Given the description of an element on the screen output the (x, y) to click on. 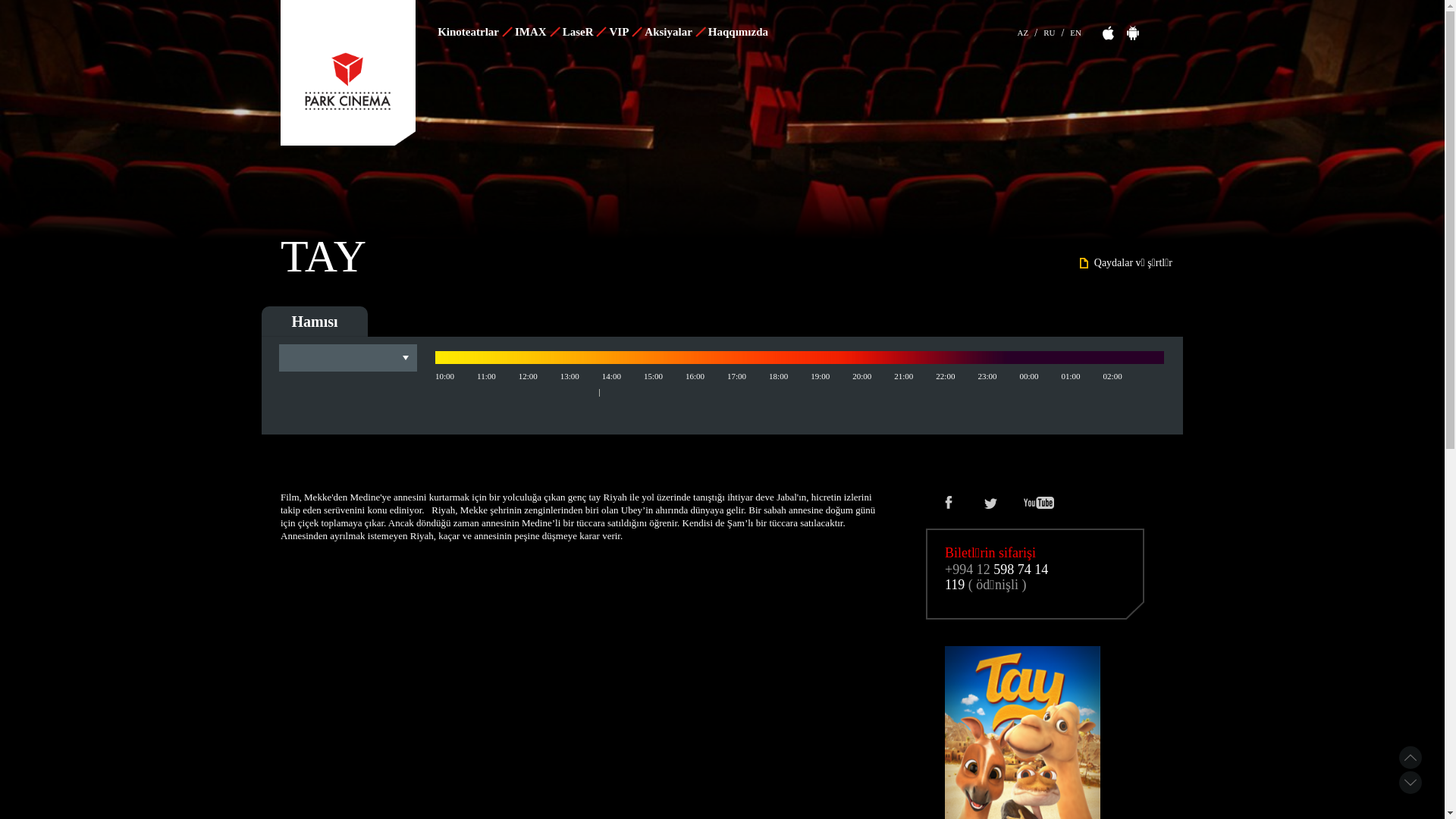
Aksiyalar Element type: text (674, 31)
VIP Element type: text (624, 31)
LaseR Element type: text (583, 31)
EN Element type: text (1075, 30)
IMAX Element type: text (536, 31)
Kinoteatrlar Element type: text (473, 31)
AZ Element type: text (1023, 30)
RU Element type: text (1048, 30)
